Given the description of an element on the screen output the (x, y) to click on. 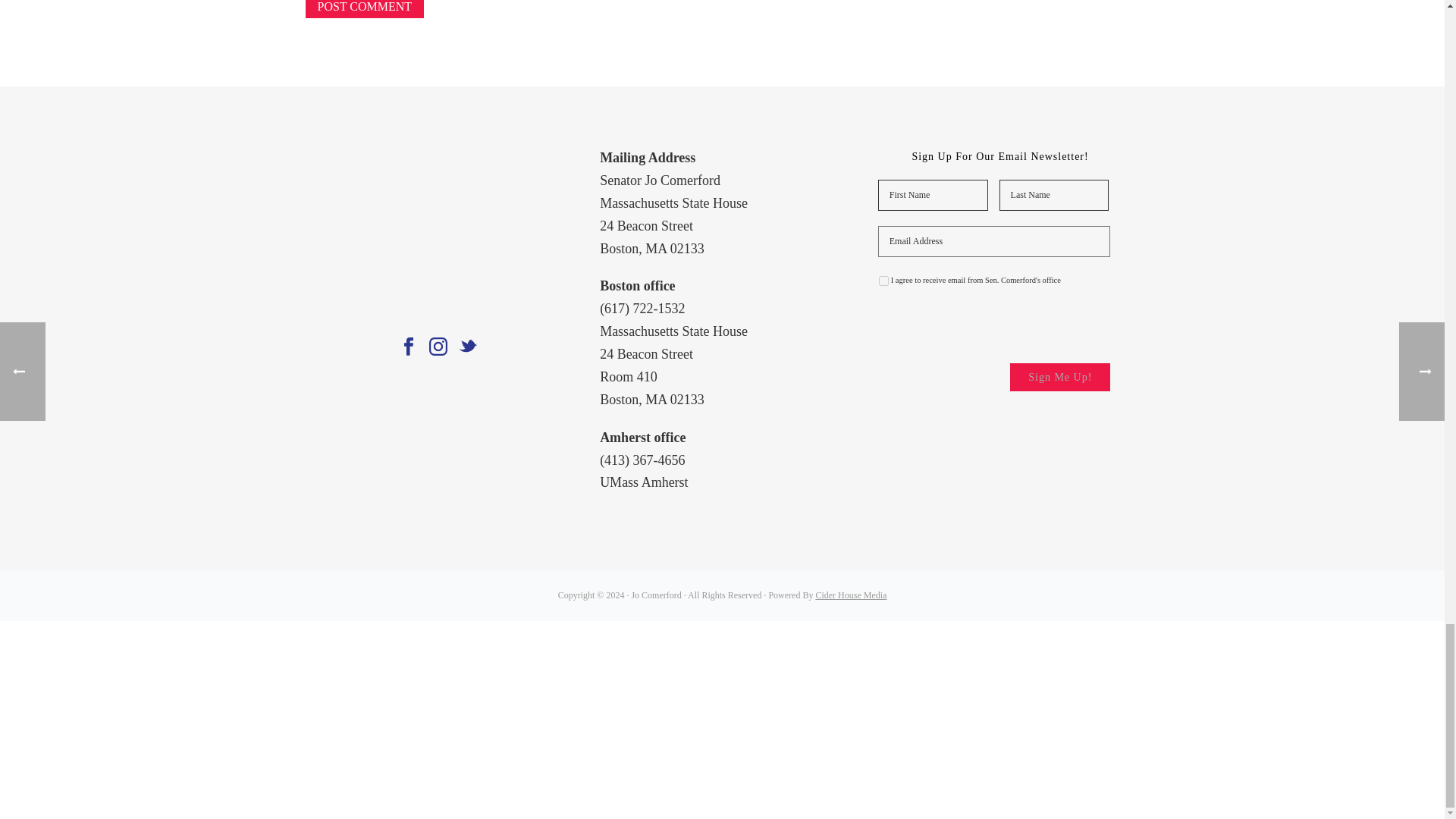
Sign Me Up! (1059, 377)
Follow Jo on facebook (407, 347)
Follow Jo on instagram (437, 347)
I agree to receive email from Sen. Comerford's office (883, 280)
POST COMMENT (363, 9)
Follow Jo on twitter (467, 347)
